Given the description of an element on the screen output the (x, y) to click on. 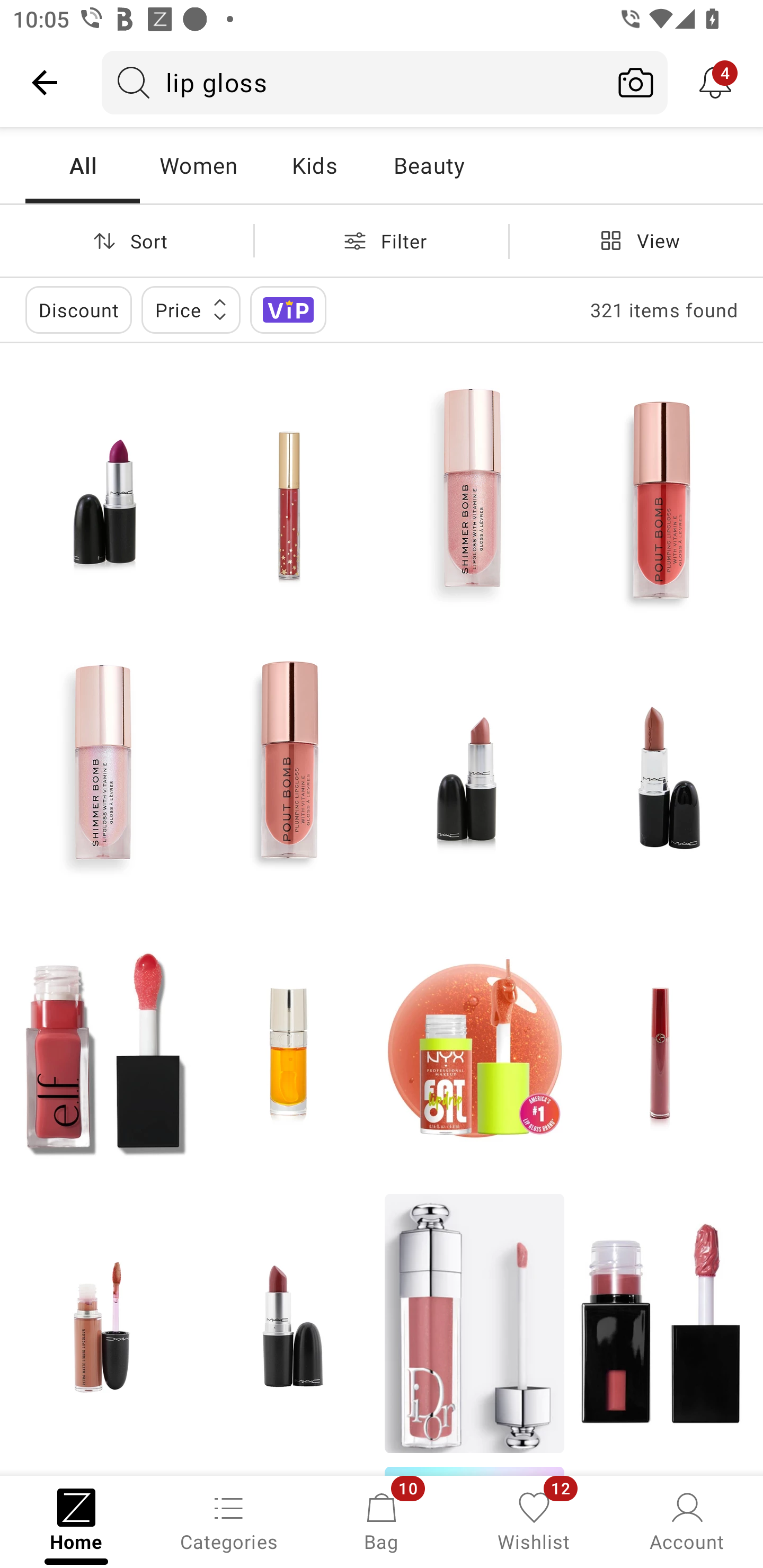
Navigate up (44, 82)
lip gloss (352, 82)
Women (198, 165)
Kids (314, 165)
Beauty (428, 165)
Sort (126, 240)
Filter (381, 240)
View (636, 240)
Discount (78, 309)
Price (190, 309)
Categories (228, 1519)
Bag, 10 new notifications Bag (381, 1519)
Wishlist, 12 new notifications Wishlist (533, 1519)
Account (686, 1519)
